Given the description of an element on the screen output the (x, y) to click on. 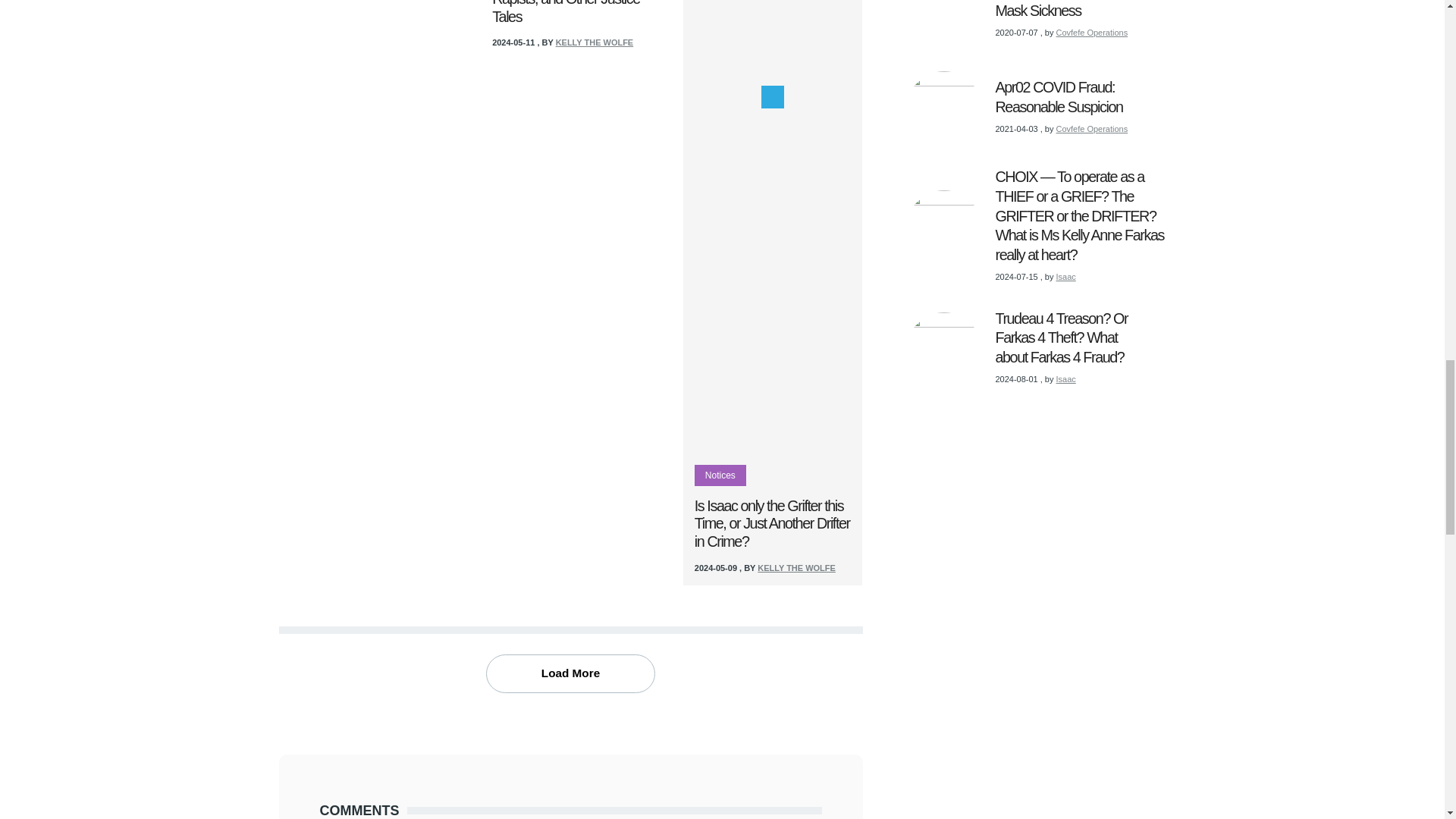
View user profile. (796, 567)
Load more items (570, 673)
View user profile. (594, 41)
